Given the description of an element on the screen output the (x, y) to click on. 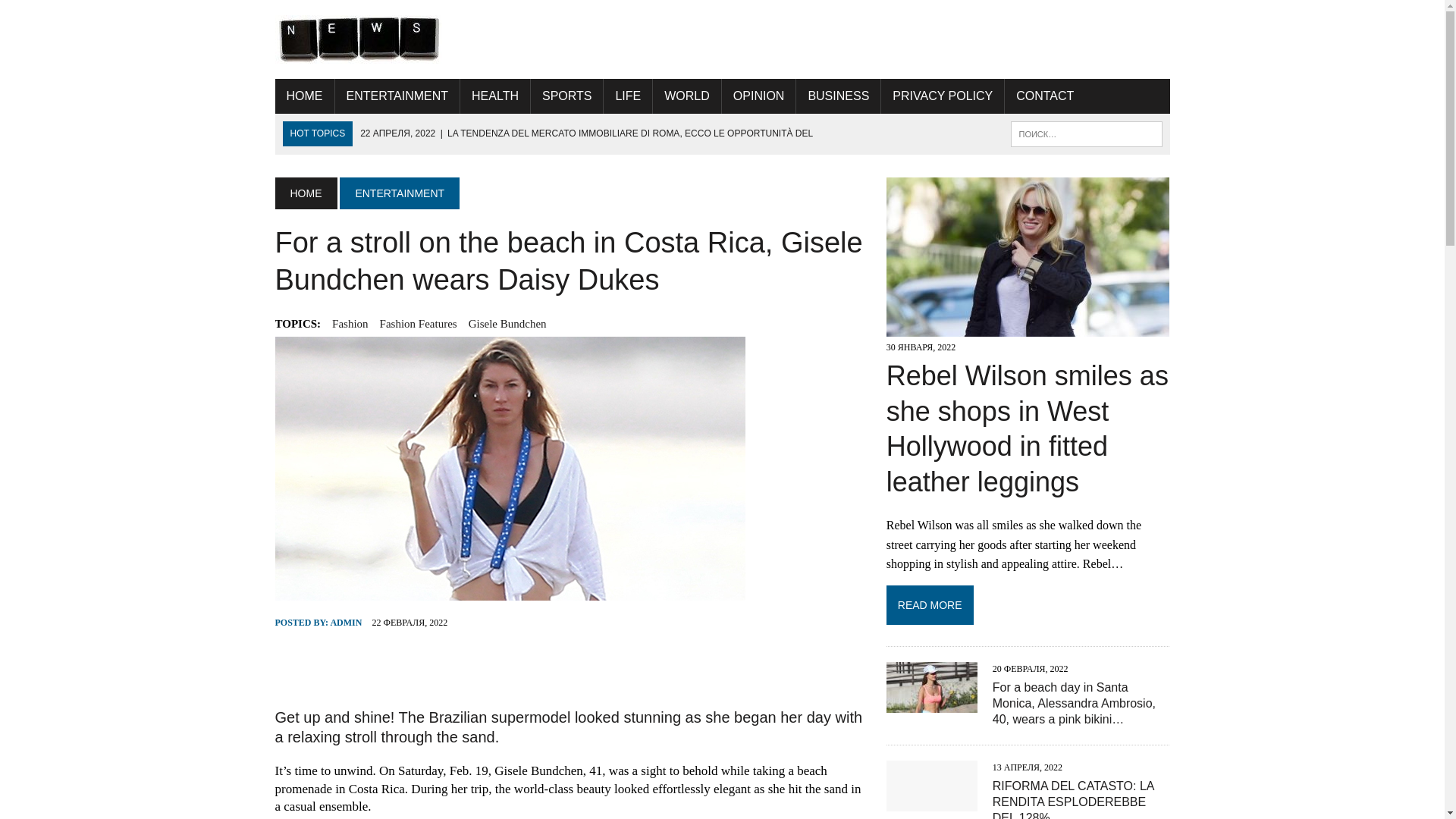
HEALTH (494, 95)
WORLD (686, 95)
ENTERTAINMENT (397, 95)
PRIVACY POLICY (942, 95)
ADMIN (345, 622)
Advertisement (569, 667)
Fashion (349, 323)
CONTACT (1044, 95)
BUSINESS (838, 95)
OPINION (759, 95)
Gisele Bundchen (507, 323)
Jab News (722, 39)
ENTERTAINMENT (399, 193)
HOME (305, 193)
LIFE (628, 95)
